Given the description of an element on the screen output the (x, y) to click on. 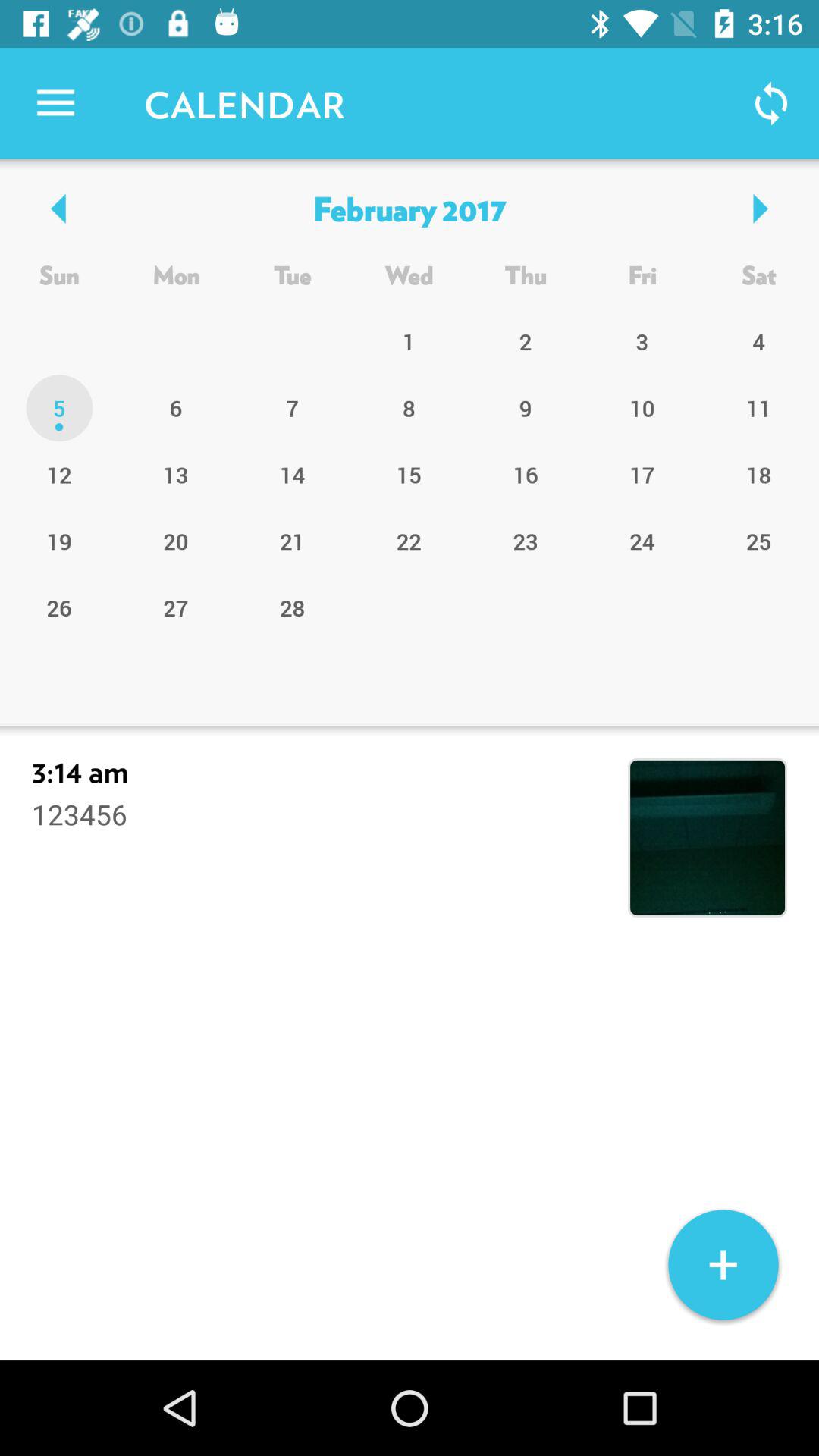
swipe to 9 item (525, 407)
